Given the description of an element on the screen output the (x, y) to click on. 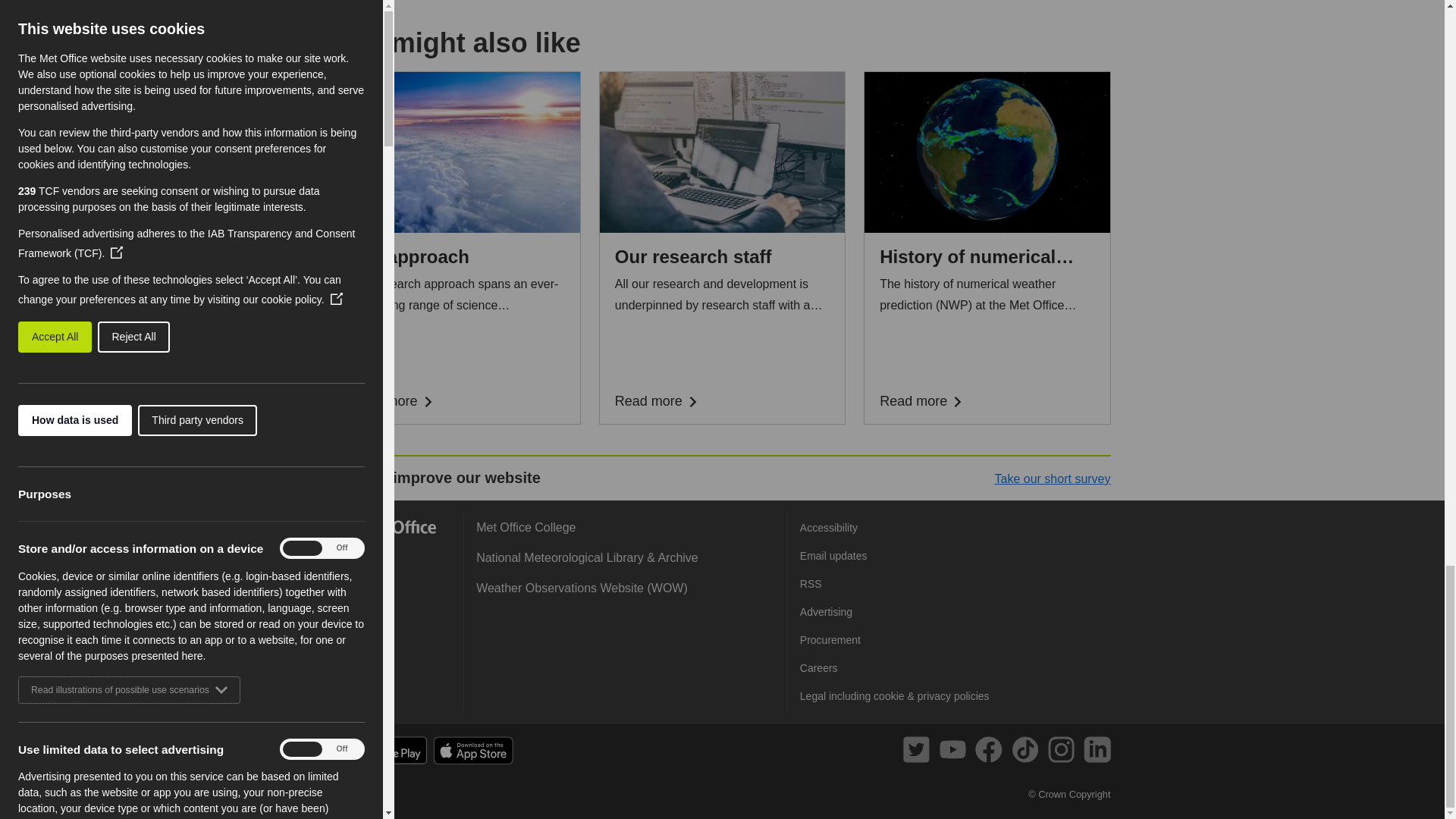
Follow us on TikTok (1027, 752)
Follow us on Facebook (991, 752)
Read illustrations of possible use scenarios (128, 703)
Follow us on Twitter (919, 752)
Follow us on Instagram (1064, 752)
Follow us on Youtube (955, 752)
Read illustrations of possible use scenarios (128, 174)
Read illustrations of possible use scenarios (128, 438)
